Given the description of an element on the screen output the (x, y) to click on. 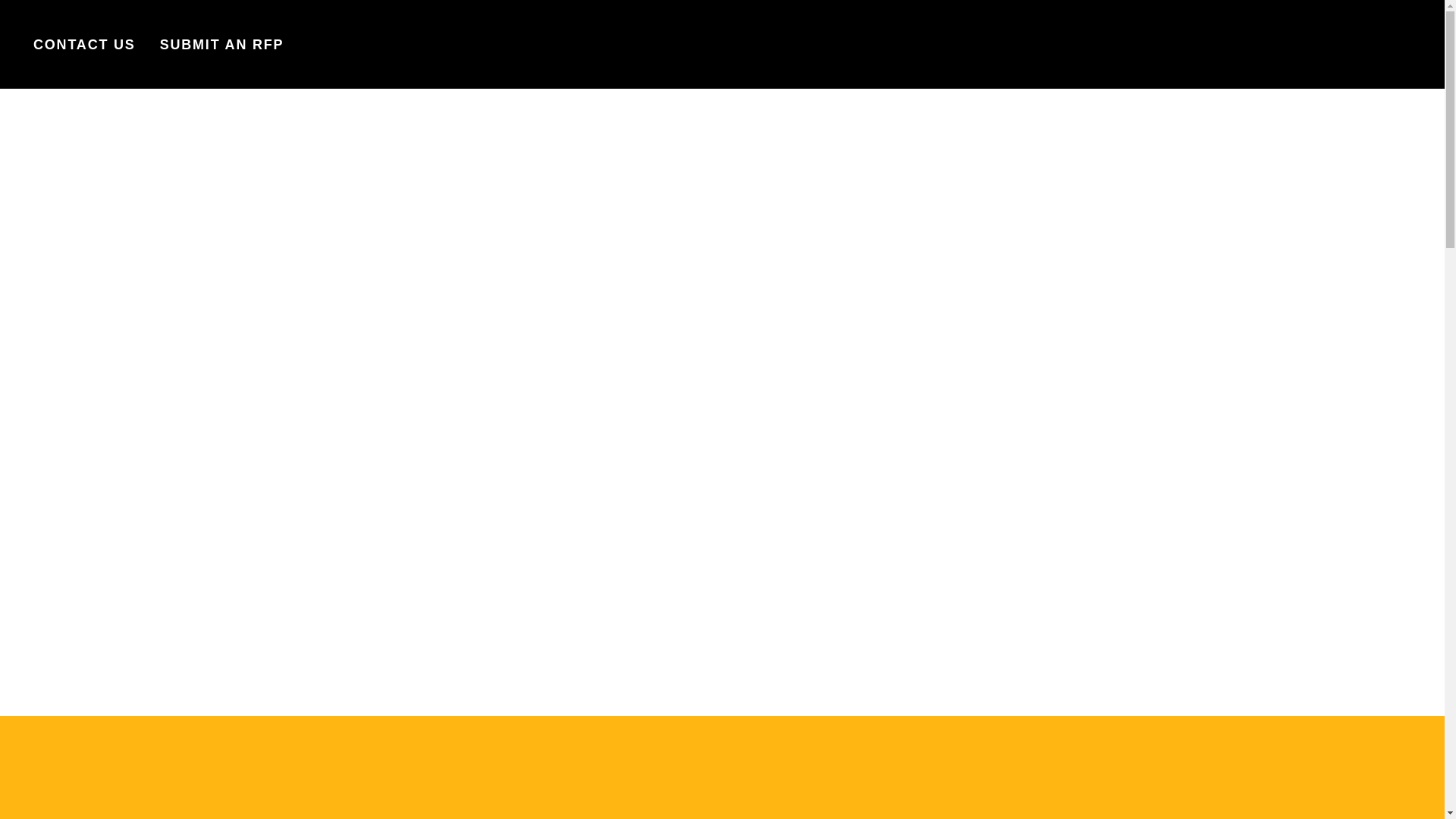
CONTACT US (84, 43)
Skip to content (17, 15)
SUBMIT AN RFP (221, 43)
